Given the description of an element on the screen output the (x, y) to click on. 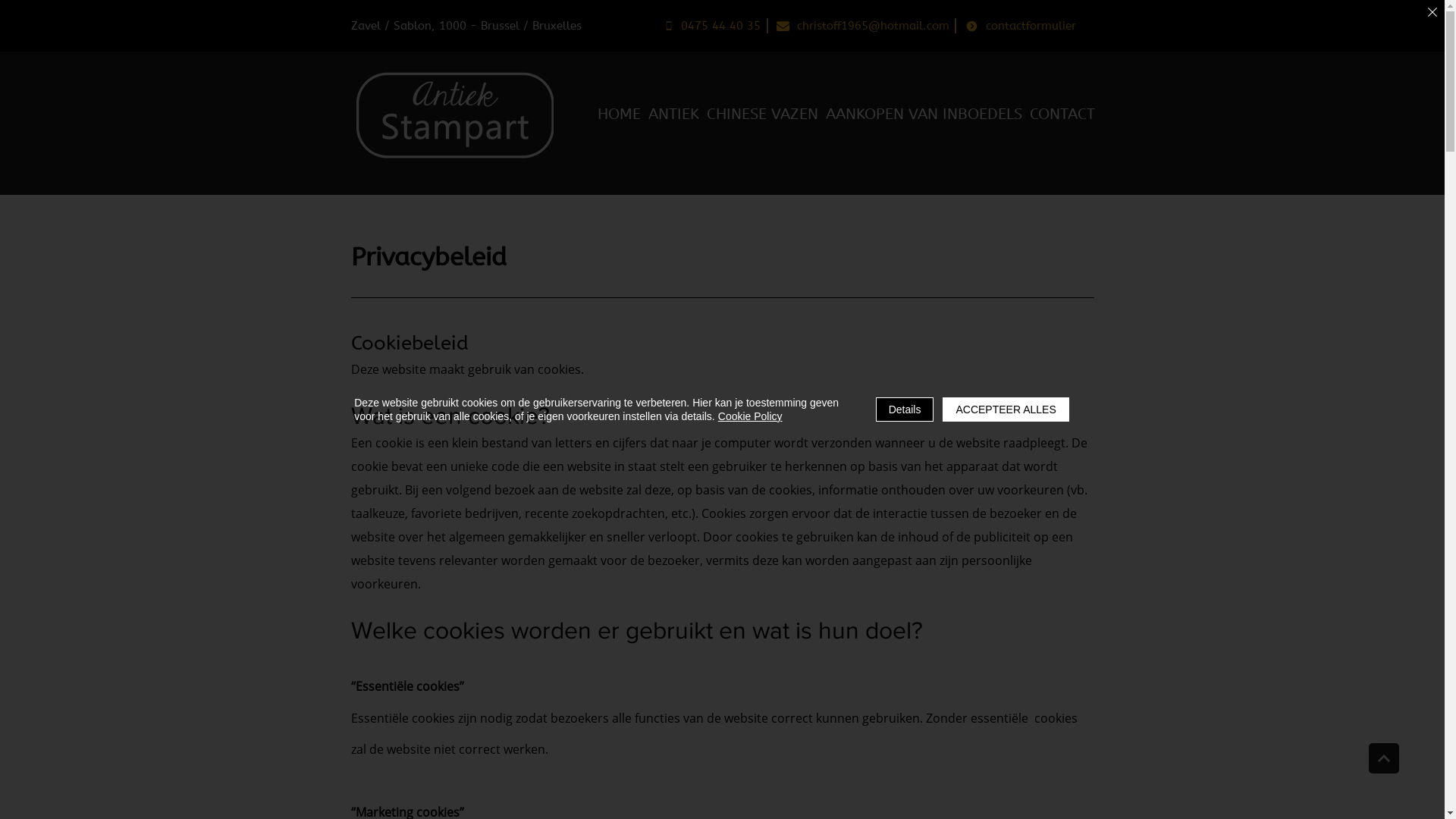
contactformulier Element type: text (1020, 25)
Details Element type: text (904, 409)
Cookie Policy Element type: text (750, 416)
ACCEPTEER ALLES Element type: text (1005, 409)
ANTIEK Element type: text (672, 114)
0475 44 40 35 Element type: text (712, 25)
AANKOPEN VAN INBOEDELS Element type: text (923, 114)
CHINESE VAZEN Element type: text (762, 114)
christoff1965@hotmail.com Element type: text (862, 25)
CONTACT Element type: text (1062, 114)
HOME Element type: text (618, 114)
